Given the description of an element on the screen output the (x, y) to click on. 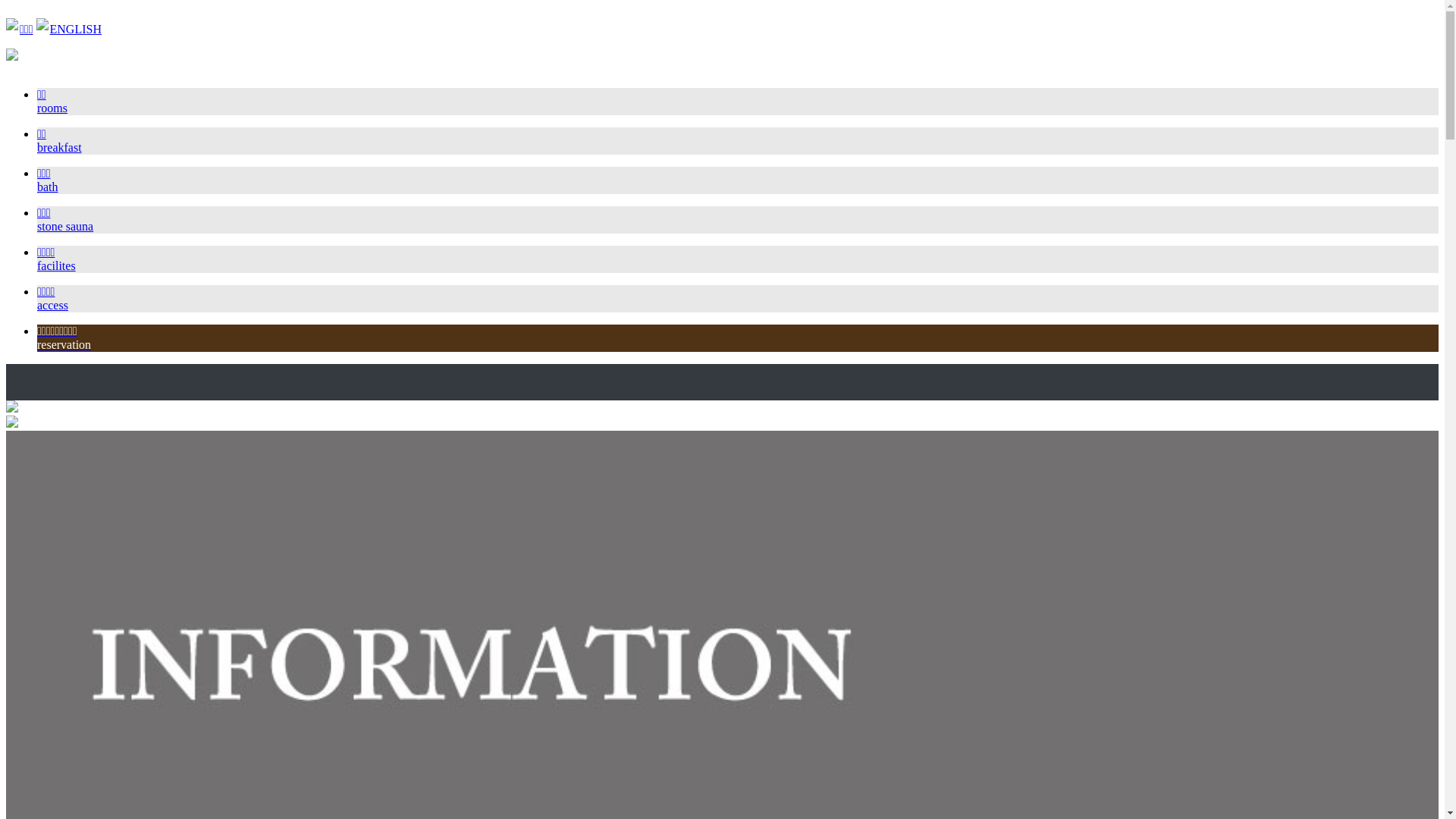
ENGLISH Element type: text (75, 28)
